Given the description of an element on the screen output the (x, y) to click on. 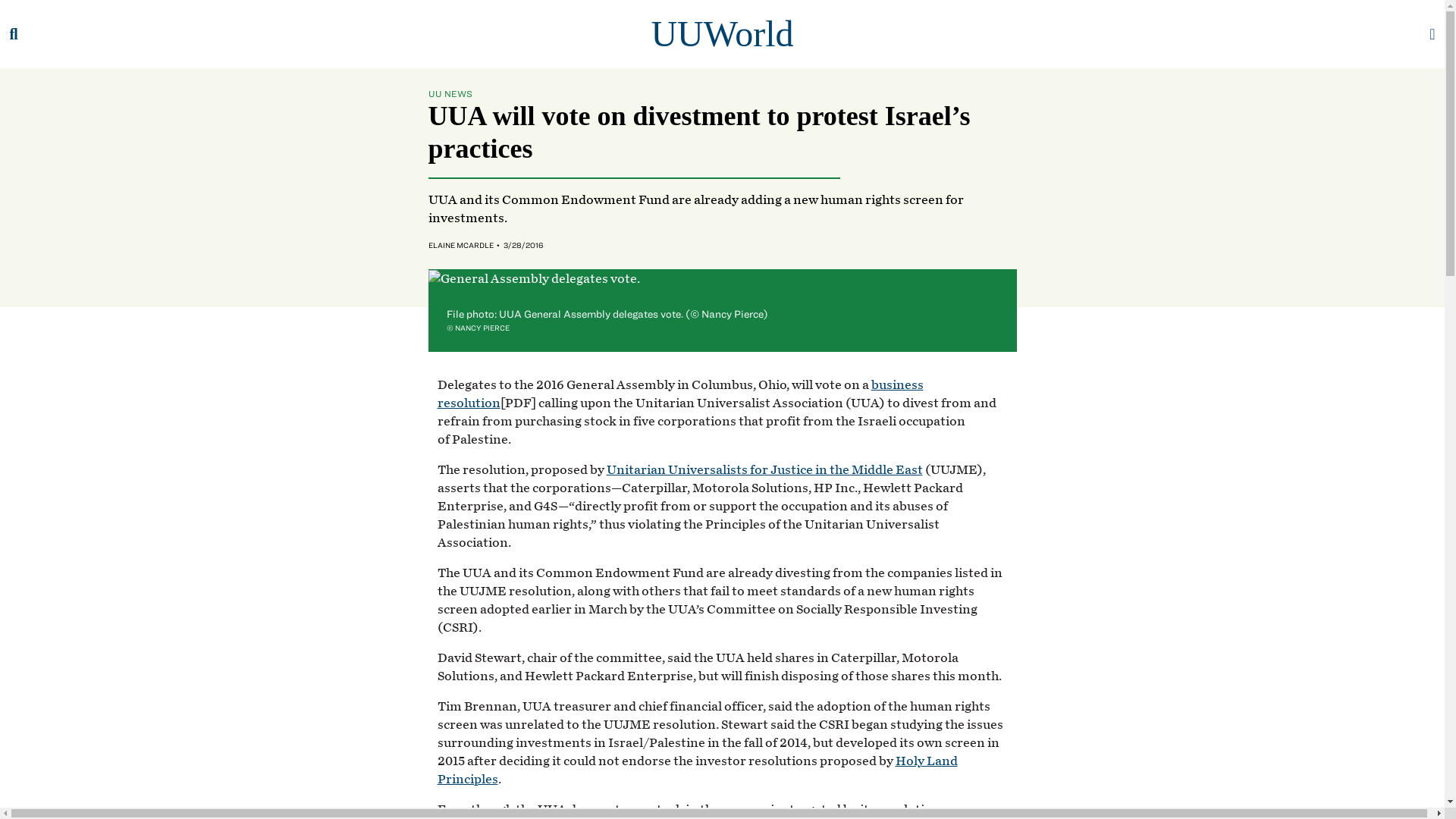
UUWorld (721, 33)
UU NEWS (449, 92)
Google search box (16, 33)
UU World: liberal religion and life (721, 33)
business resolution (679, 393)
Holy Land Principles (696, 769)
ELAINE MCARDLE (460, 244)
Unitarian Universalists for Justice in the Middle East (765, 469)
